Given the description of an element on the screen output the (x, y) to click on. 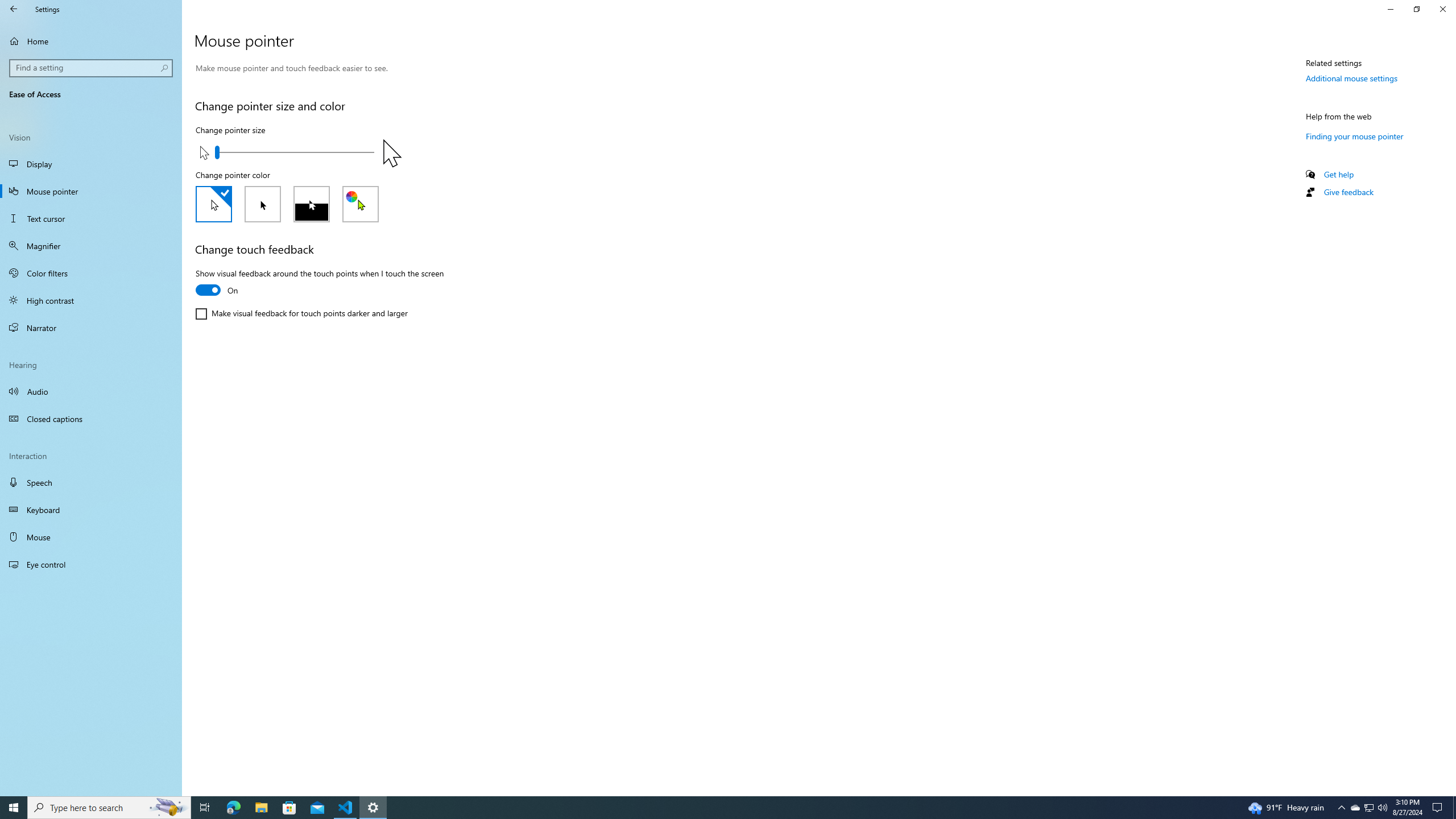
Magnifier (91, 245)
Change pointer size (294, 152)
Make visual feedback for touch points darker and larger (301, 313)
High contrast (91, 299)
Give feedback (1348, 191)
Mouse pointer (91, 190)
Speech (91, 482)
Narrator (91, 327)
Close Settings (1442, 9)
Restore Settings (1416, 9)
